Given the description of an element on the screen output the (x, y) to click on. 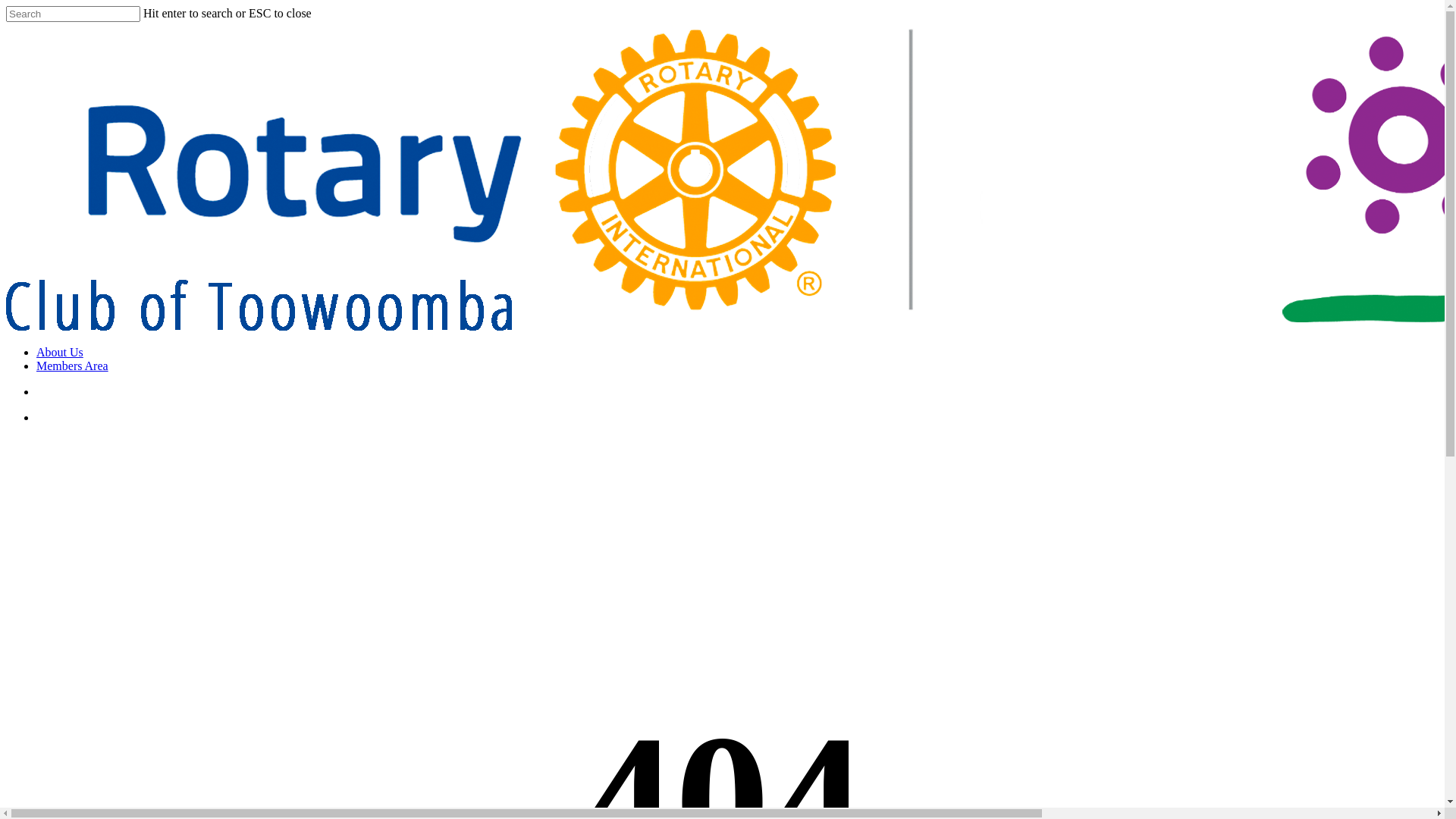
Skip to main content Element type: text (5, 5)
Members Area Element type: text (72, 365)
About Us Element type: text (59, 351)
